Given the description of an element on the screen output the (x, y) to click on. 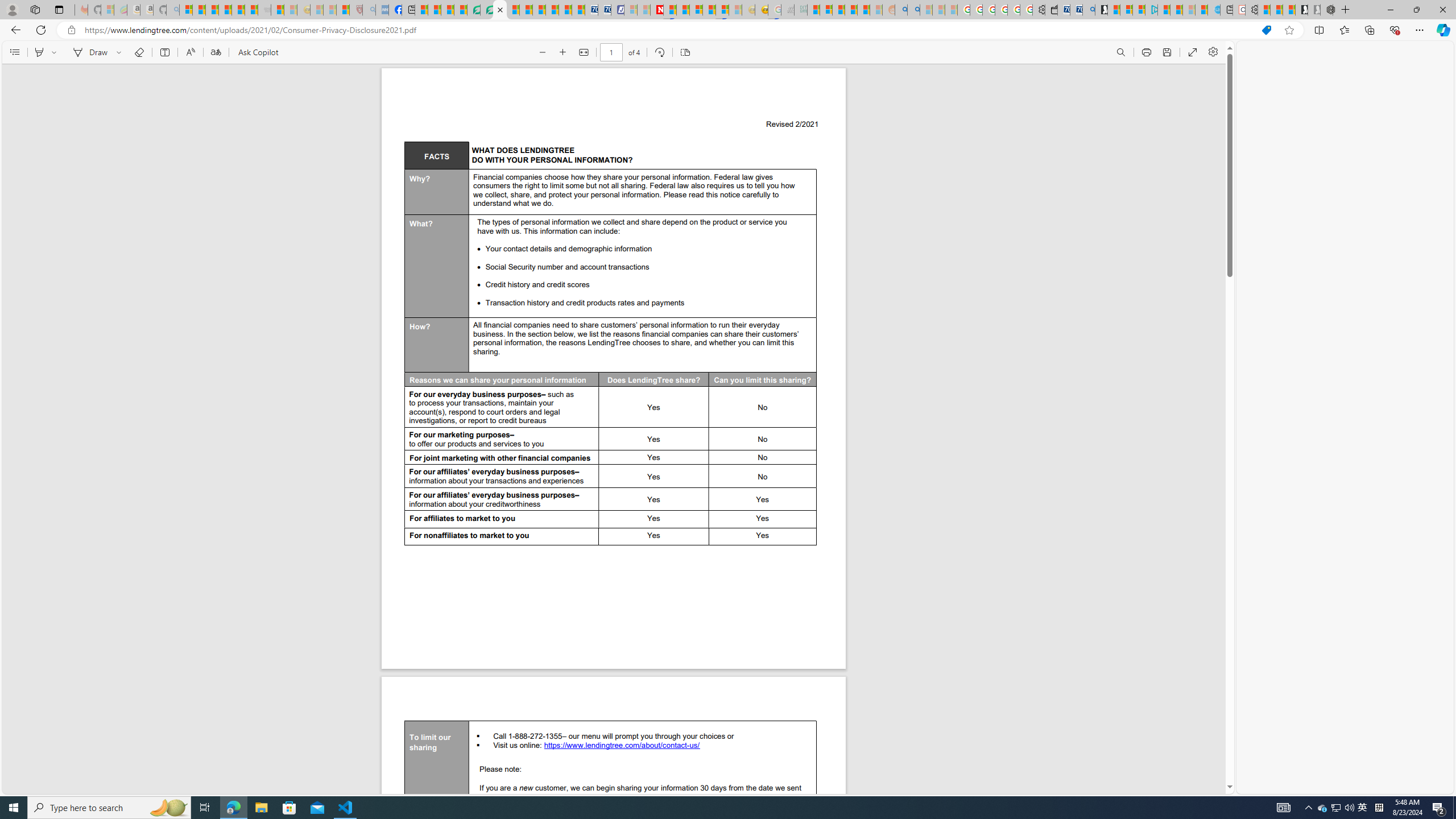
Terms of Use Agreement (486, 9)
Recipes - MSN - Sleeping (316, 9)
World - MSN (447, 9)
Highlight (39, 52)
Navy Quest (787, 9)
MSNBC - MSN (813, 9)
Zoom out (Ctrl+Minus key) (542, 52)
DITOGAMES AG Imprint - Sleeping (800, 9)
